Given the description of an element on the screen output the (x, y) to click on. 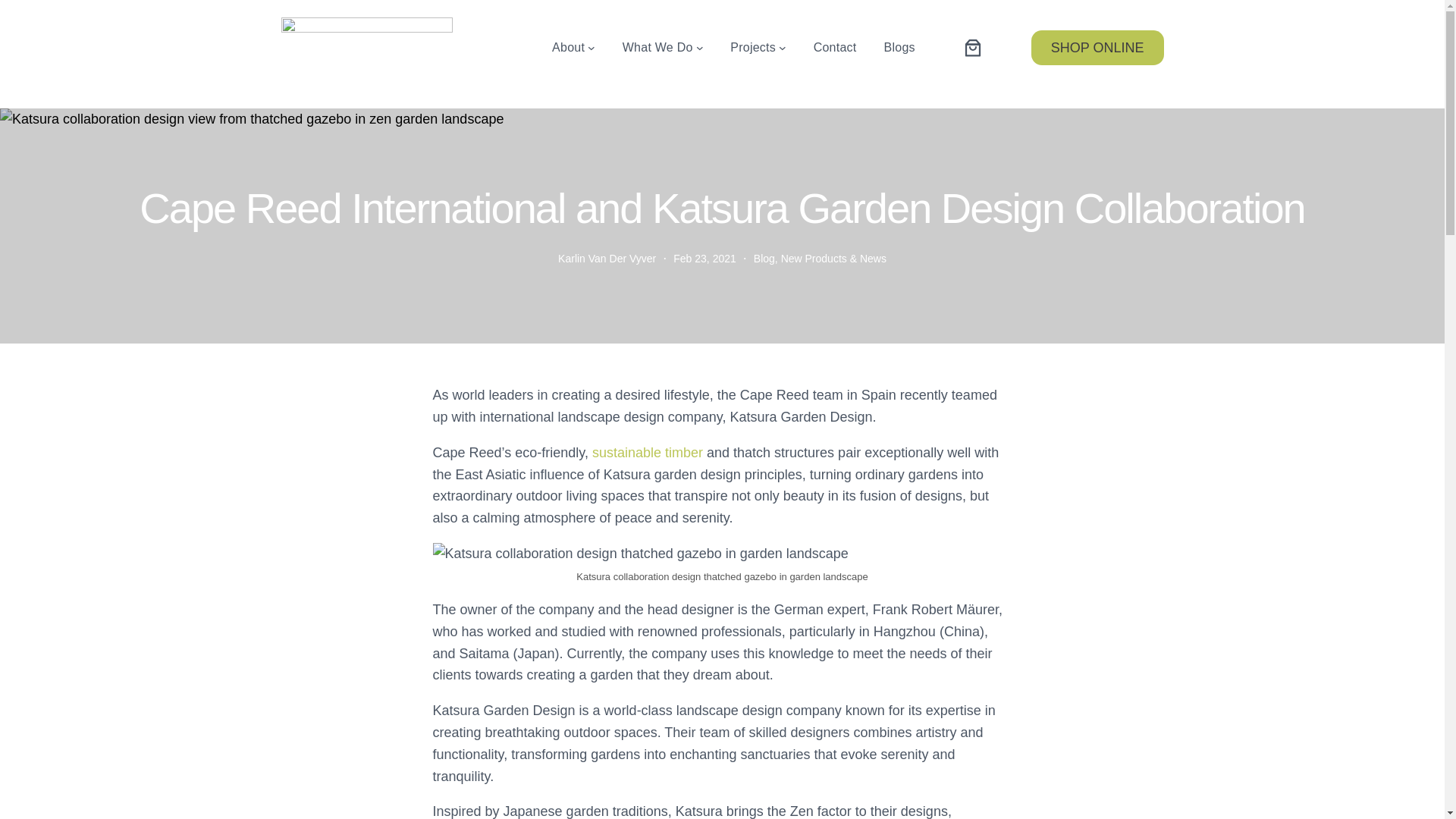
About (568, 46)
Blogs (899, 46)
sustainable timber (647, 452)
Blog (764, 258)
Projects (753, 46)
What We Do (658, 46)
Contact (835, 46)
SHOP ONLINE (1096, 47)
